Given the description of an element on the screen output the (x, y) to click on. 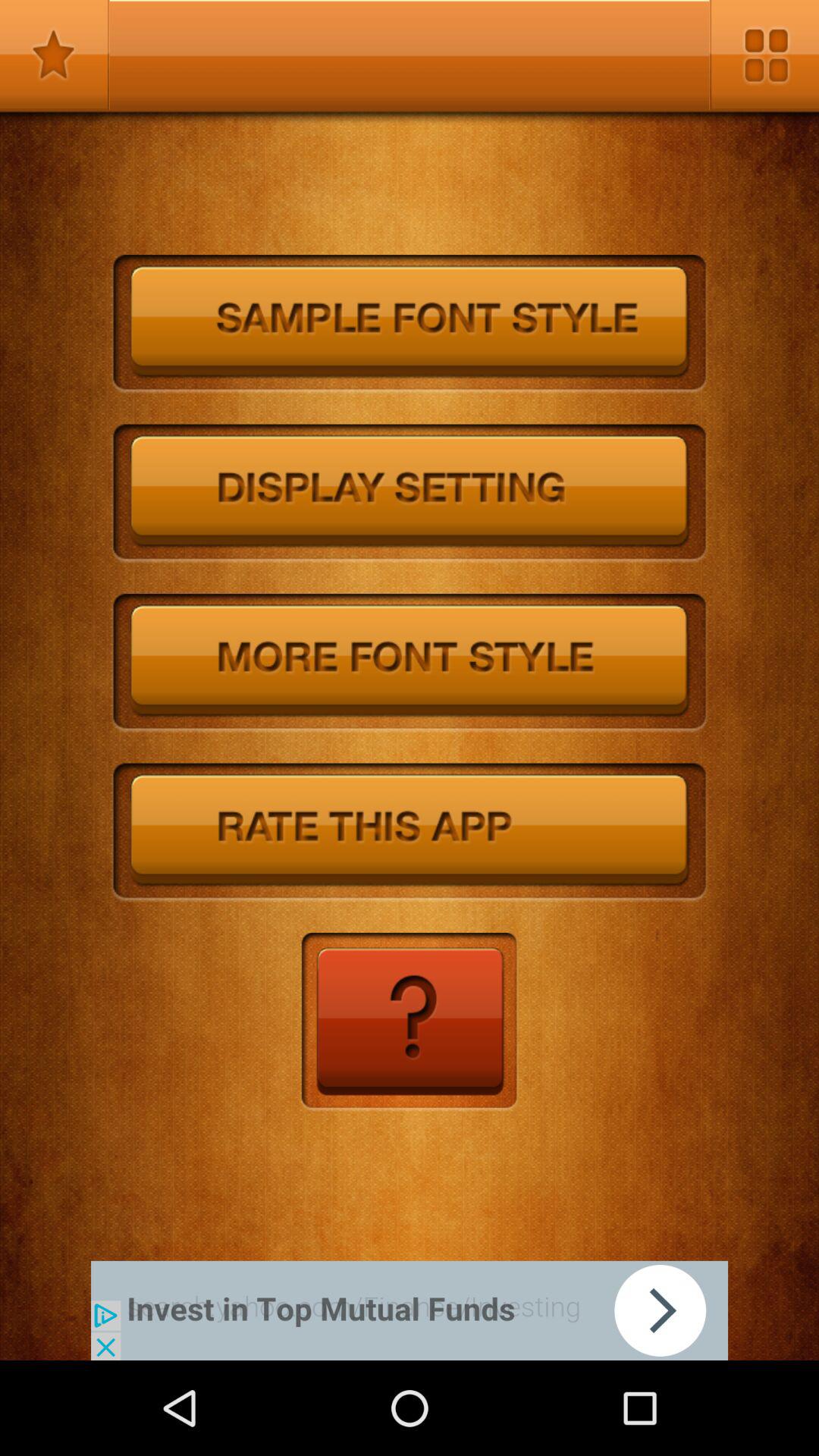
click to select (409, 663)
